Given the description of an element on the screen output the (x, y) to click on. 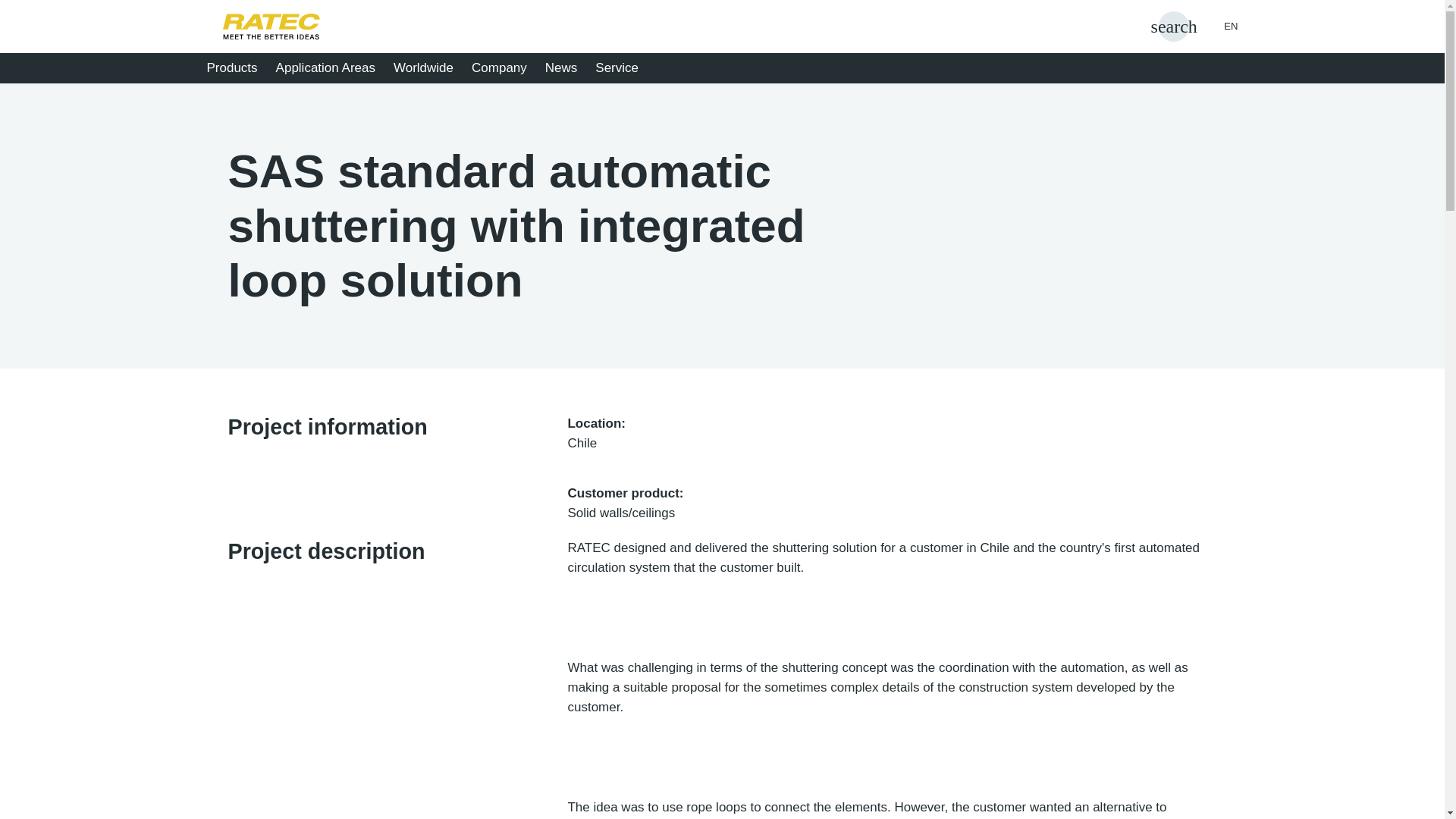
search (1173, 26)
Products (236, 67)
EN (1219, 26)
